Given the description of an element on the screen output the (x, y) to click on. 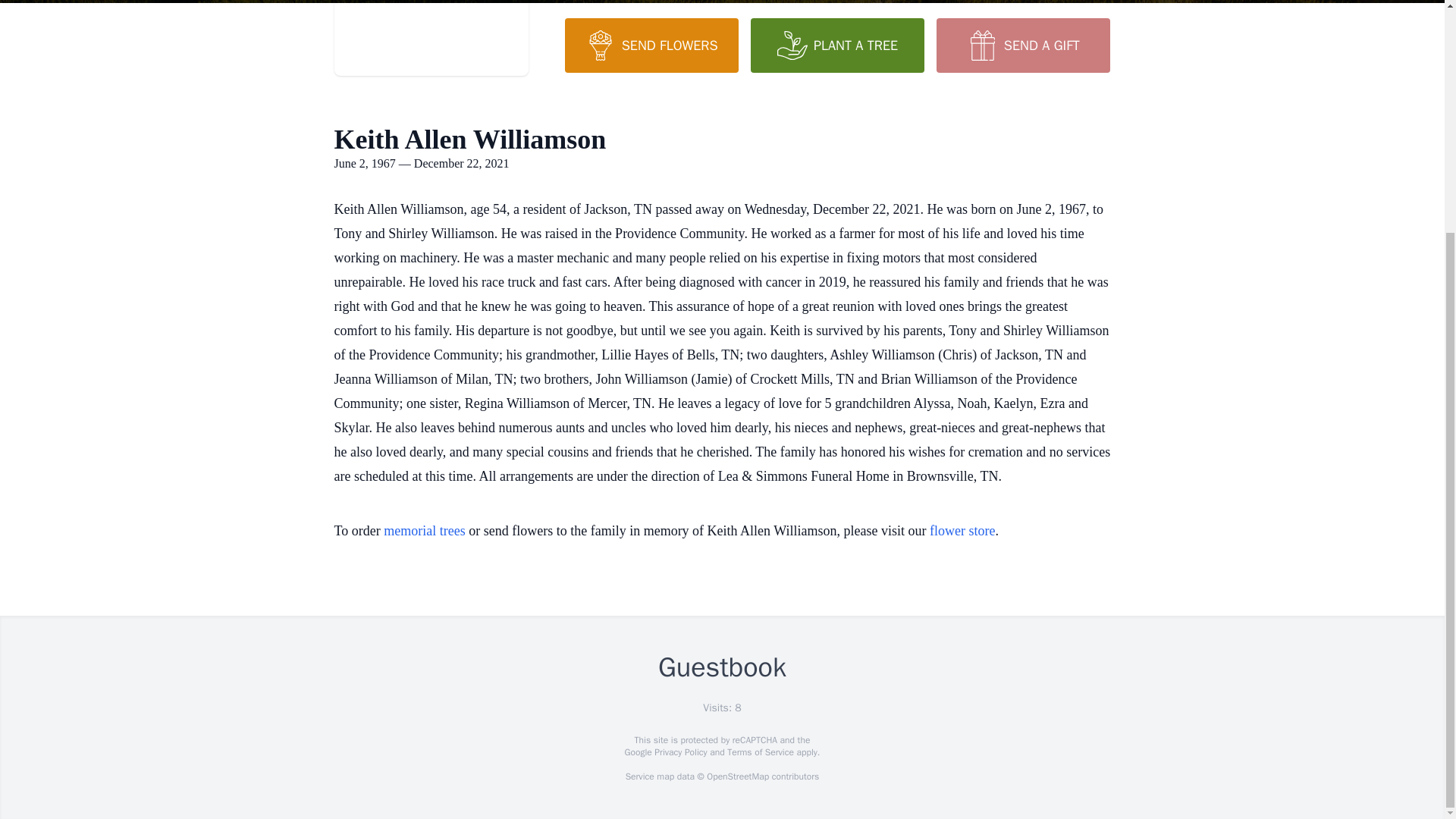
SEND FLOWERS (651, 45)
SEND A GIFT (1022, 45)
memorial trees (424, 530)
OpenStreetMap (737, 776)
PLANT A TREE (837, 45)
flower store (962, 530)
Terms of Service (759, 752)
Privacy Policy (679, 752)
